Given the description of an element on the screen output the (x, y) to click on. 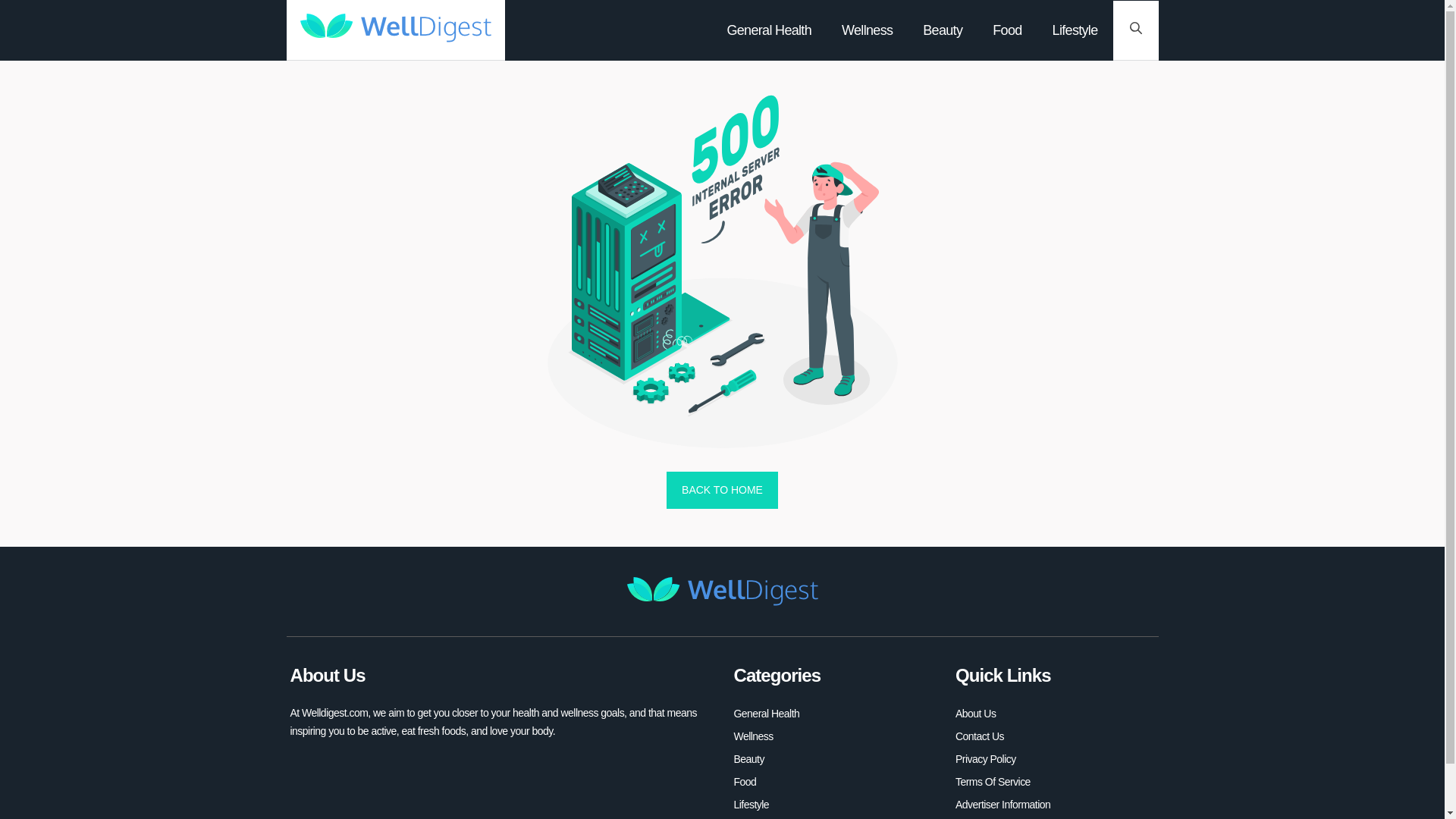
Terms Of Service (992, 782)
Beauty (942, 29)
About Us (975, 713)
Advertiser Information (1002, 804)
BACK TO HOME (721, 490)
General Health (768, 29)
Privacy Policy (985, 759)
Contact Us (979, 736)
Wellness (753, 736)
Wellness (866, 29)
